Given the description of an element on the screen output the (x, y) to click on. 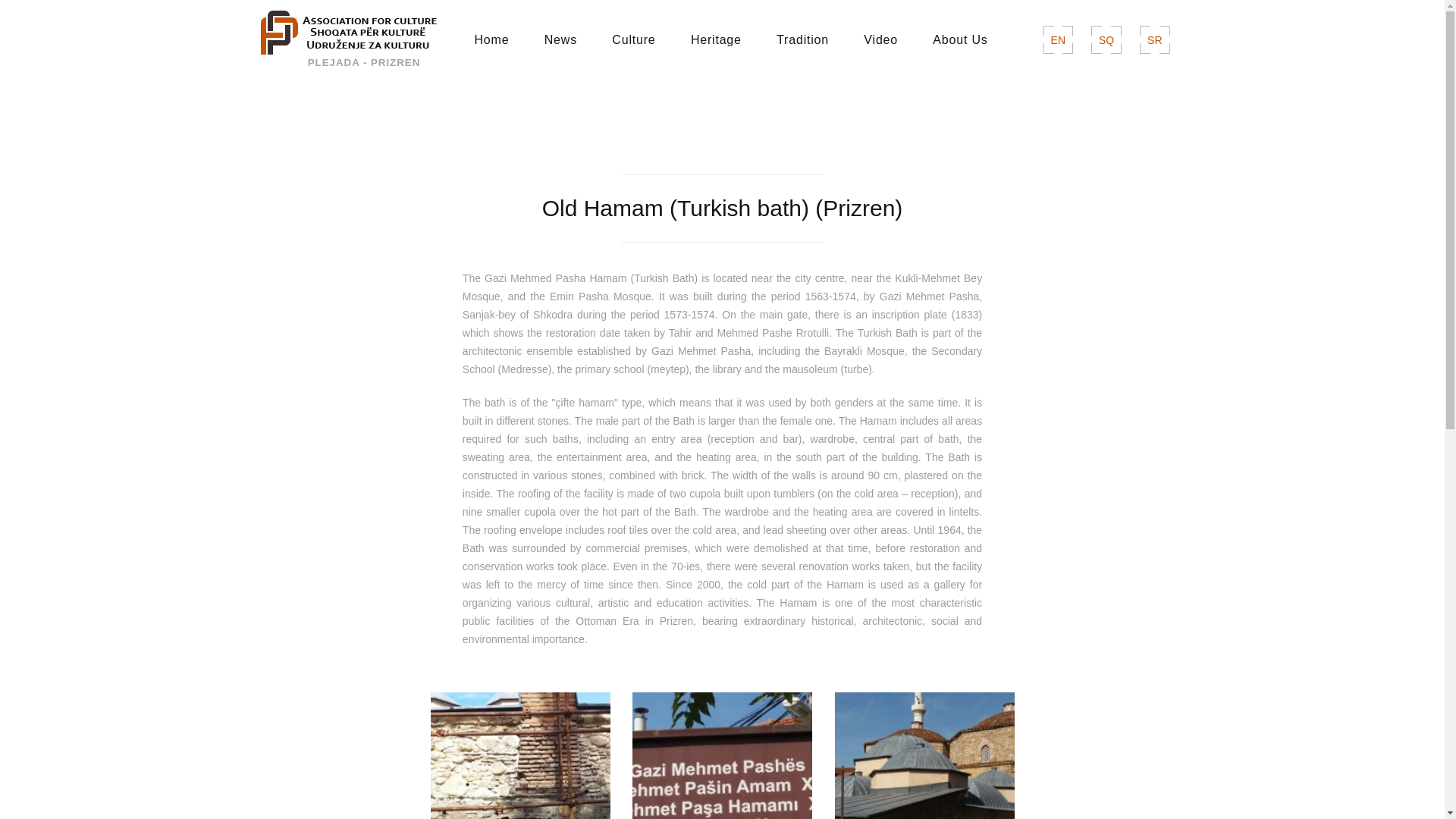
PLEJADA - PRIZREN (350, 37)
Tradition (802, 39)
News (560, 39)
Home (491, 39)
SQ (1105, 39)
News (560, 39)
Video (880, 39)
About Us (960, 39)
SR (1154, 39)
Heritage (716, 39)
EN (1058, 39)
Video (880, 39)
Home (491, 39)
Tradition (802, 39)
Culture (633, 39)
